Given the description of an element on the screen output the (x, y) to click on. 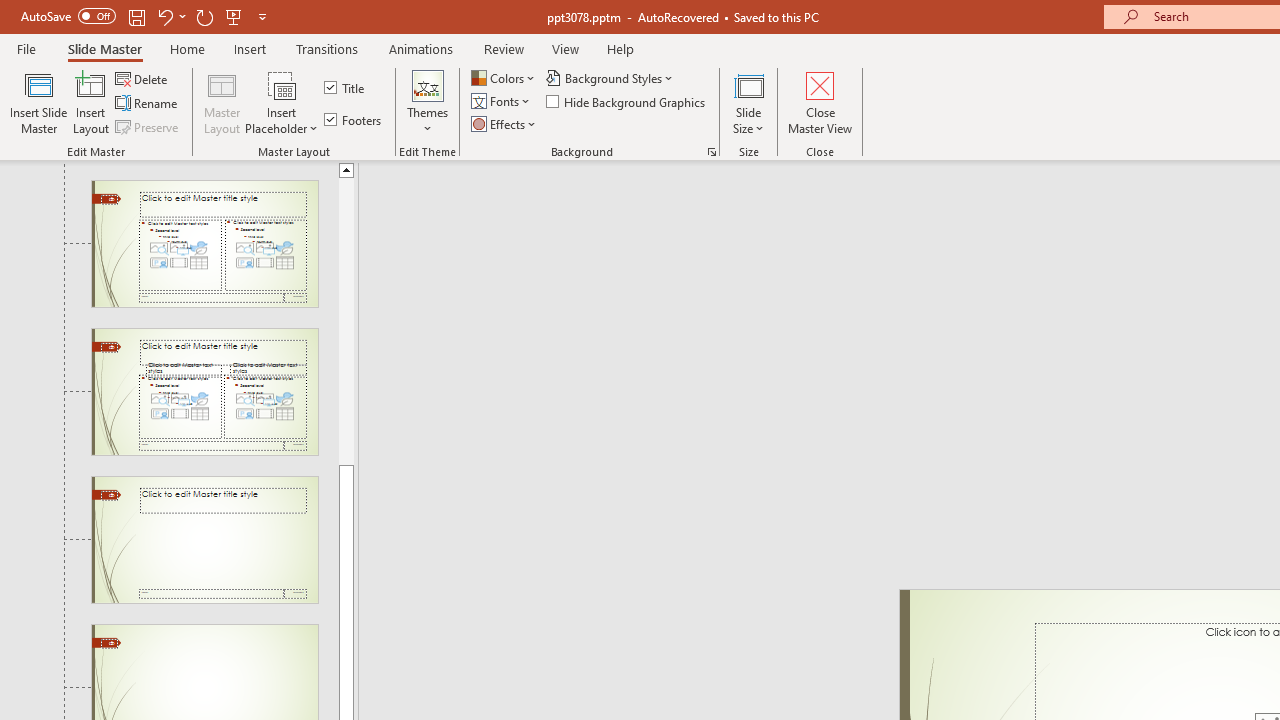
Rename (148, 103)
Close Master View (820, 102)
Page up (345, 320)
Insert Slide Master (38, 102)
Hide Background Graphics (626, 101)
Slide Size (749, 102)
